Given the description of an element on the screen output the (x, y) to click on. 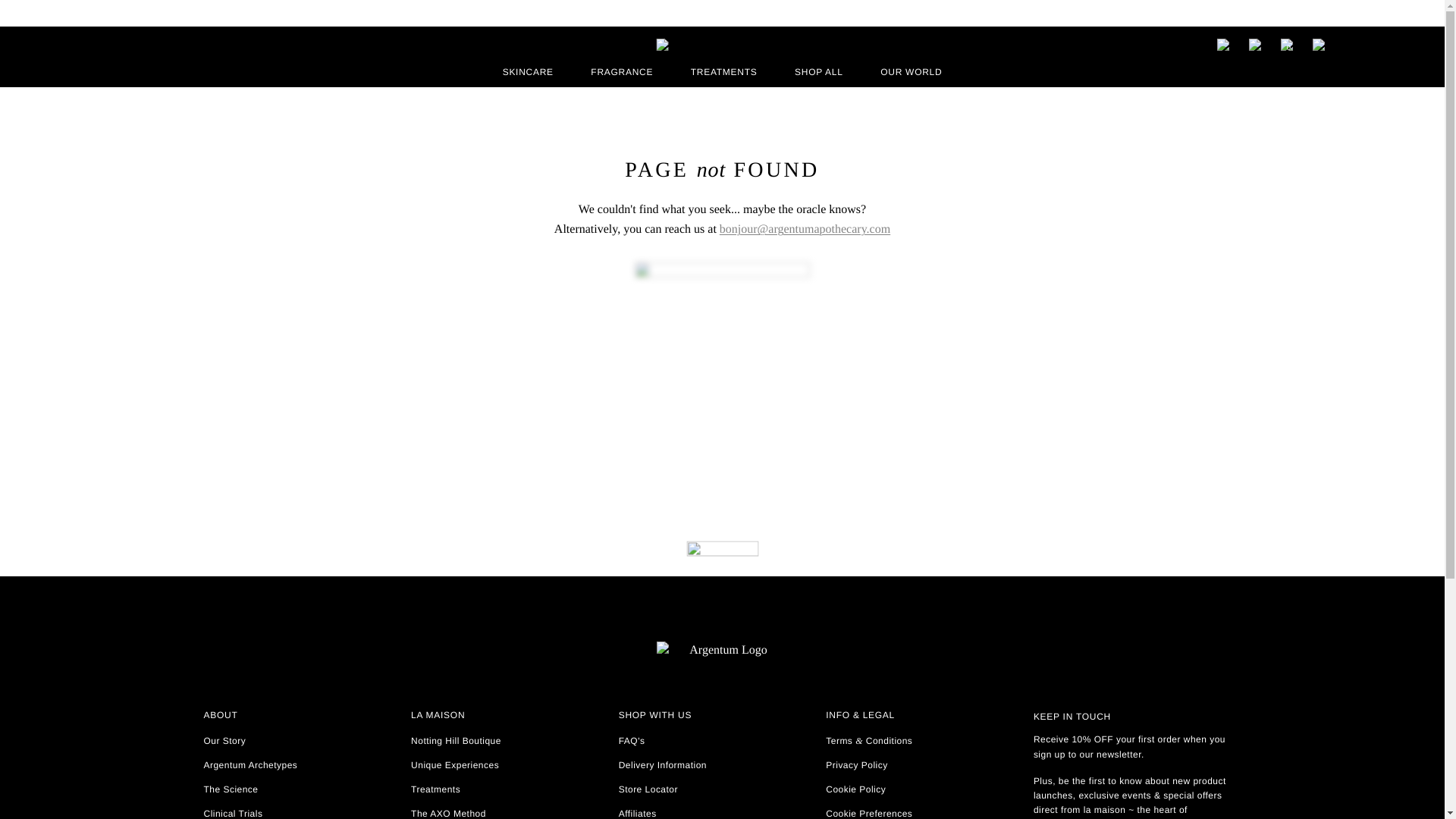
FRAGRANCE (621, 71)
SKINCARE (527, 71)
OUR WORLD (910, 71)
SHOP ALL (818, 71)
TREATMENTS (723, 71)
